Given the description of an element on the screen output the (x, y) to click on. 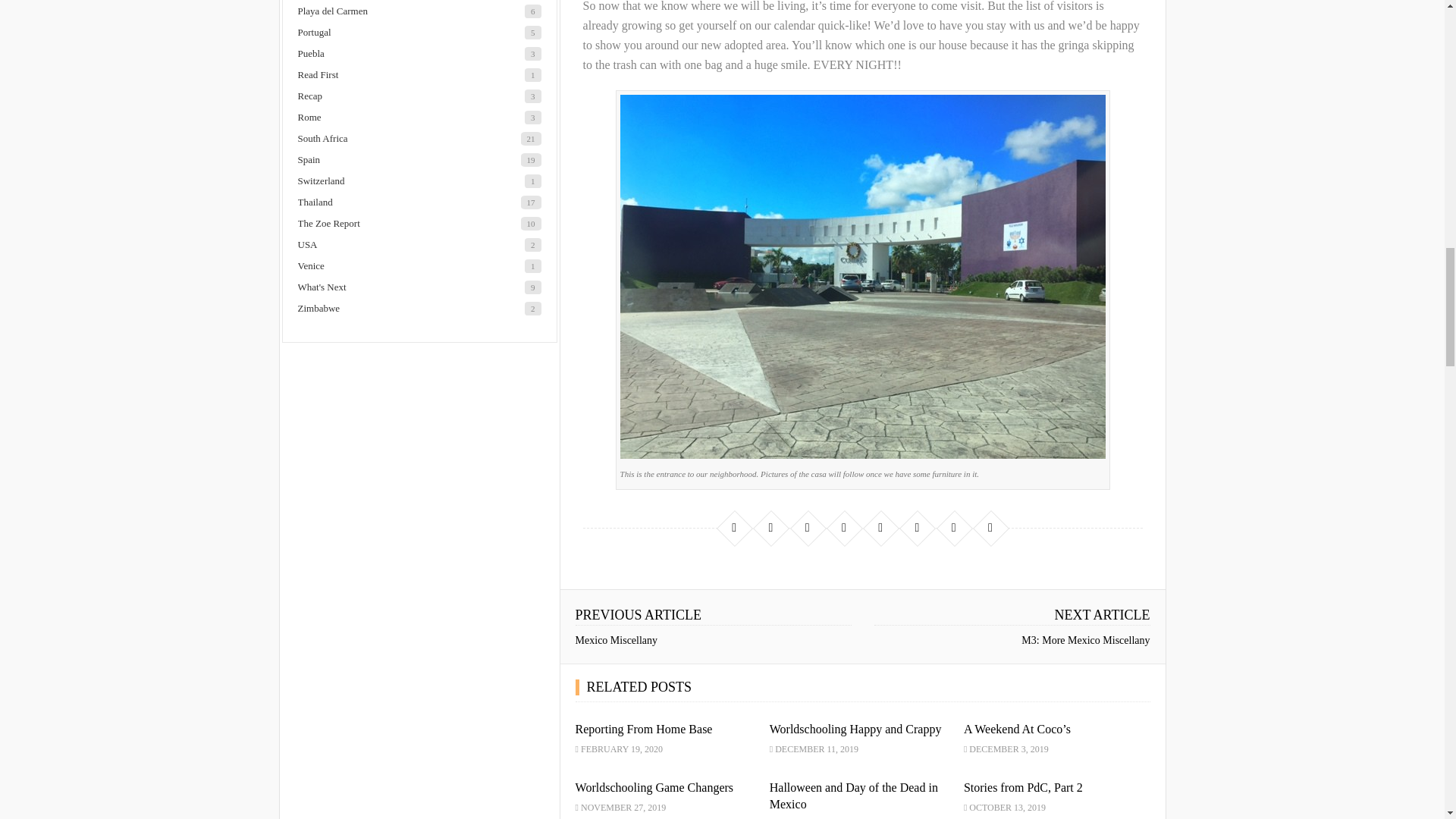
M3: More Mexico Miscellany (1086, 640)
Reporting From Home Base (644, 728)
Worldschooling Game Changers (654, 787)
Stories from PdC, Part 2 (1023, 787)
Reporting From Home Base (644, 728)
Worldschooling Happy and Crappy (856, 728)
Worldschooling Happy and Crappy (856, 728)
Halloween and Day of the Dead in Mexico (853, 795)
Mexico Miscellany (616, 640)
